Given the description of an element on the screen output the (x, y) to click on. 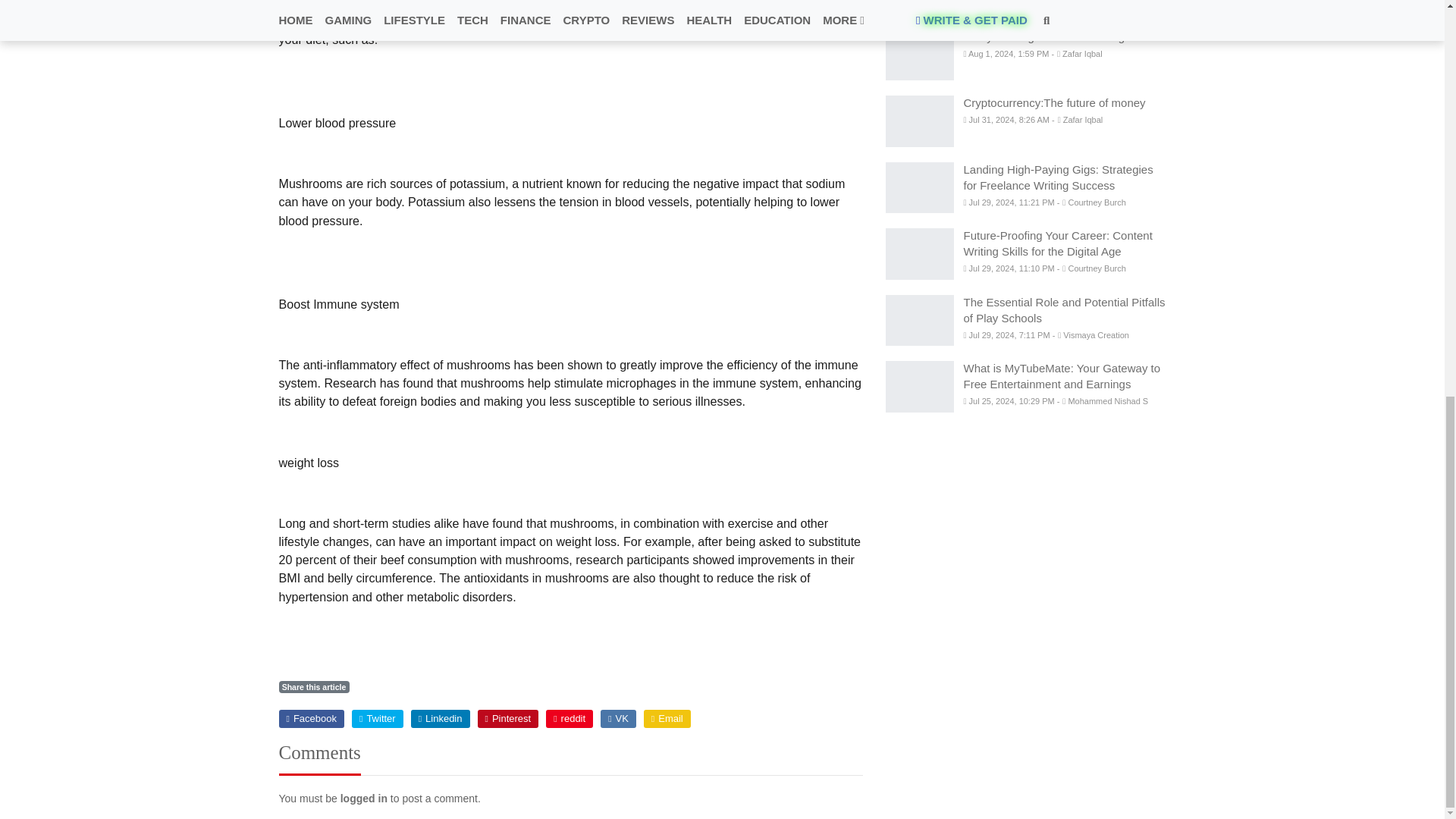
via email (666, 719)
Cryptocurrency:The future of money (919, 121)
Every one urges Delicious Delights (919, 55)
The Essential Role and Potential Pitfalls of Play Schools (919, 320)
